Given the description of an element on the screen output the (x, y) to click on. 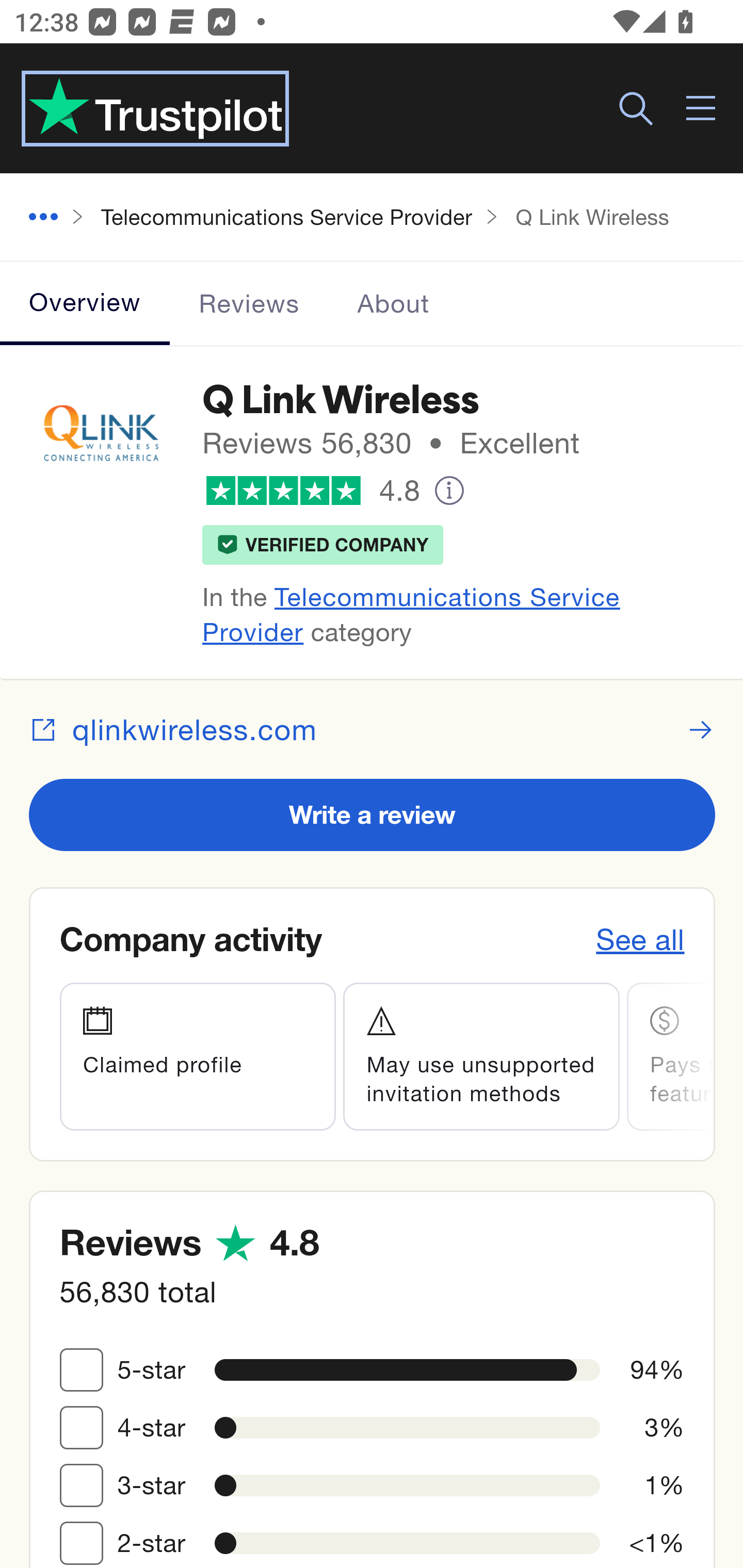
Trustpilot reviews (154, 108)
Search (636, 108)
Open menu (701, 108)
Telecommunications Service Provider (286, 215)
Show all breadcrumbs (50, 217)
Overview (85, 303)
Reviews (249, 303)
About (392, 303)
56,830  •  Excellent 56,830    •    Excellent (451, 442)
VERIFIED COMPANY (323, 543)
Telecommunications Service Provider (411, 614)
qlinkwire less.com qlinkwire less.com (372, 729)
Write a review (372, 814)
See all (640, 938)
Claimed profile (197, 1056)
May use unsupported invitation methods (482, 1056)
5-star 94% (80, 1369)
4-star 3% (80, 1426)
3-star 1% (80, 1484)
2-star <1% (80, 1541)
